Given the description of an element on the screen output the (x, y) to click on. 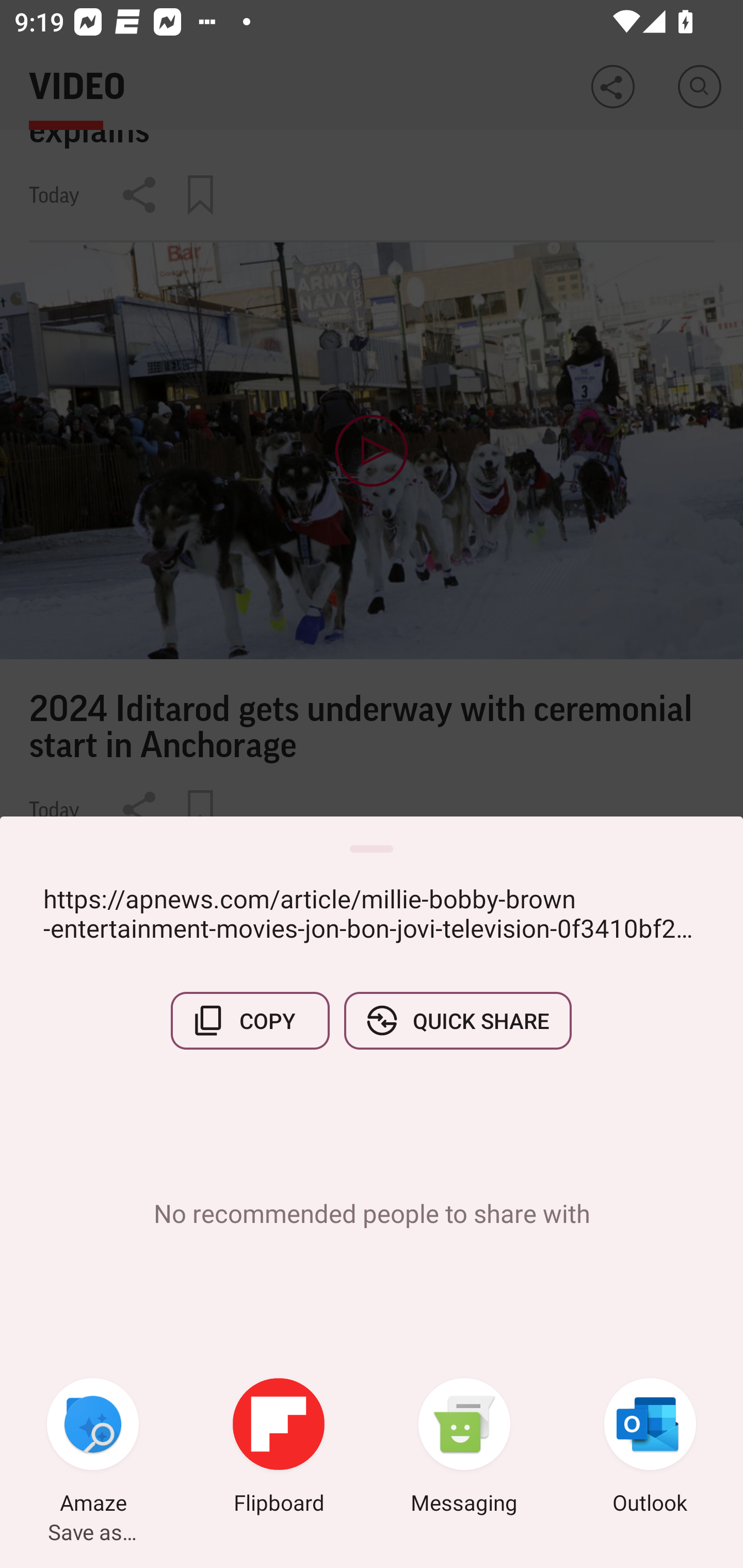
COPY (249, 1020)
QUICK SHARE (457, 1020)
Amaze Save as… (92, 1448)
Flipboard (278, 1448)
Messaging (464, 1448)
Outlook (650, 1448)
